Given the description of an element on the screen output the (x, y) to click on. 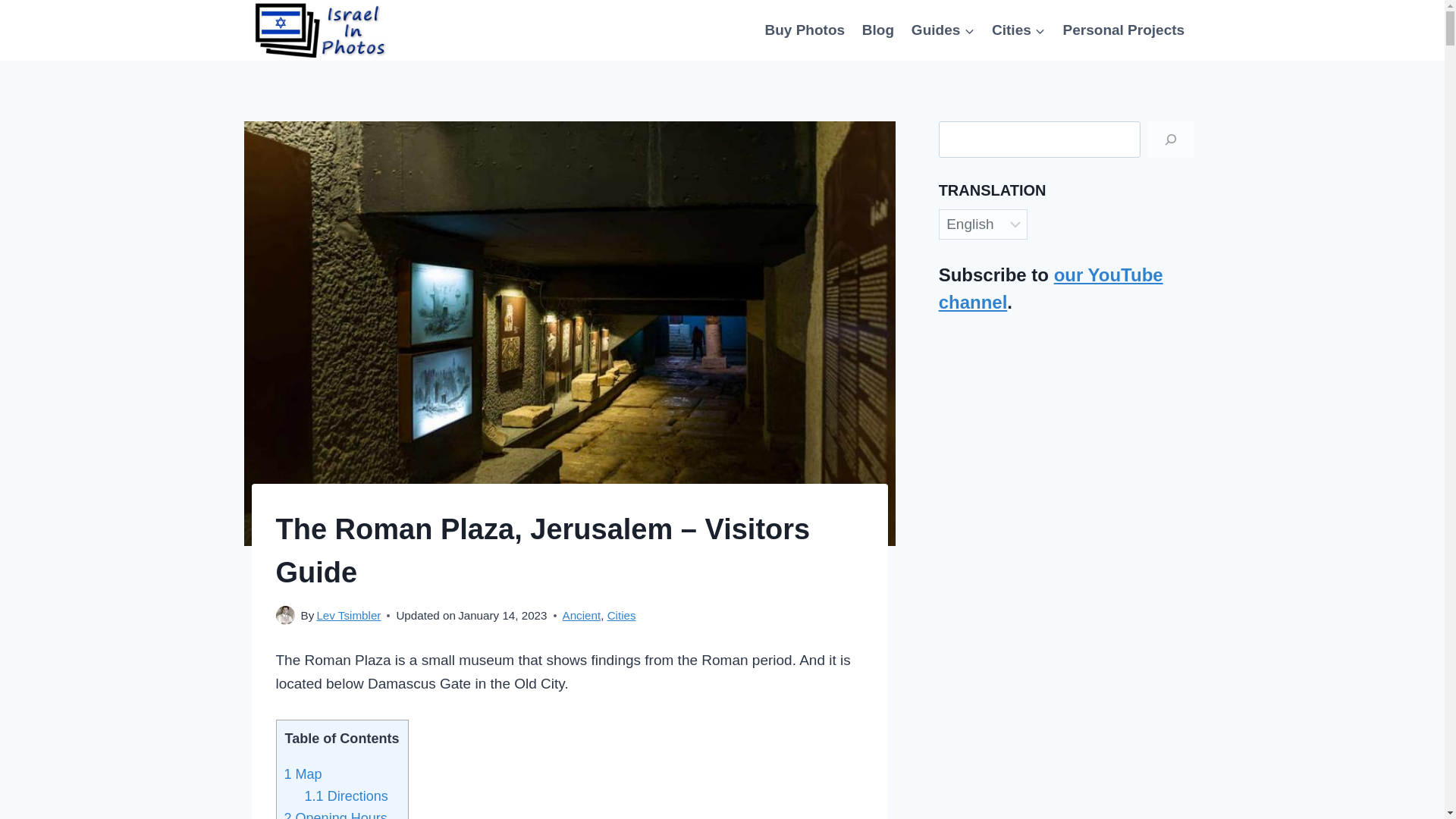
Blog (877, 29)
Personal Projects (1123, 29)
1.1 Directions (346, 795)
2 Opening Hours (335, 814)
Cities (1019, 29)
Guides (942, 29)
1 Map (302, 774)
Cities (621, 615)
Lev Tsimbler (347, 615)
Ancient (581, 615)
